Given the description of an element on the screen output the (x, y) to click on. 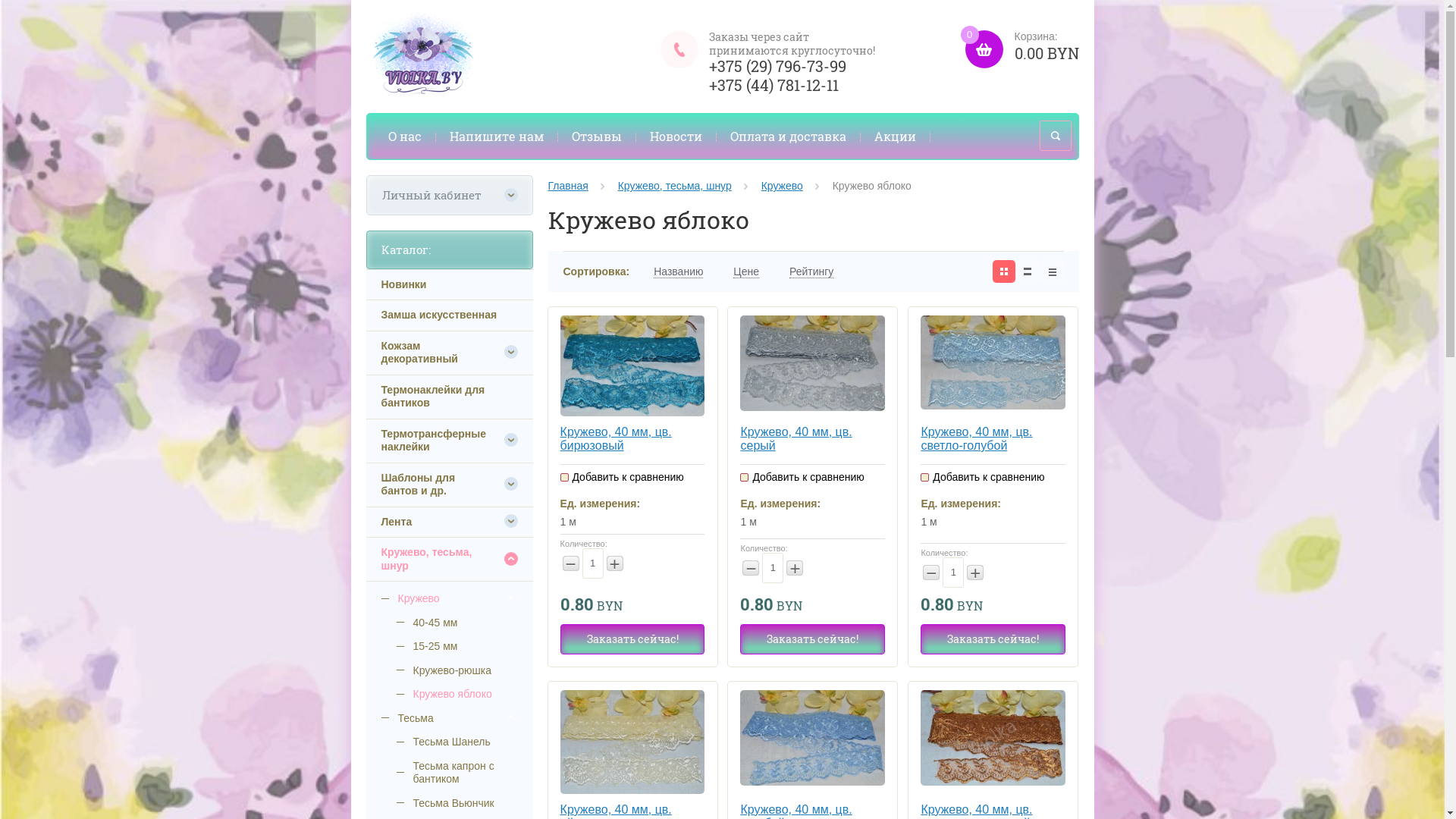
+ Element type: text (974, 572)
+ Element type: text (794, 567)
+375 (29) 796-73-99 Element type: text (777, 65)
+ Element type: text (614, 563)
+375 (44) 781-12-11 Element type: text (773, 84)
